Given the description of an element on the screen output the (x, y) to click on. 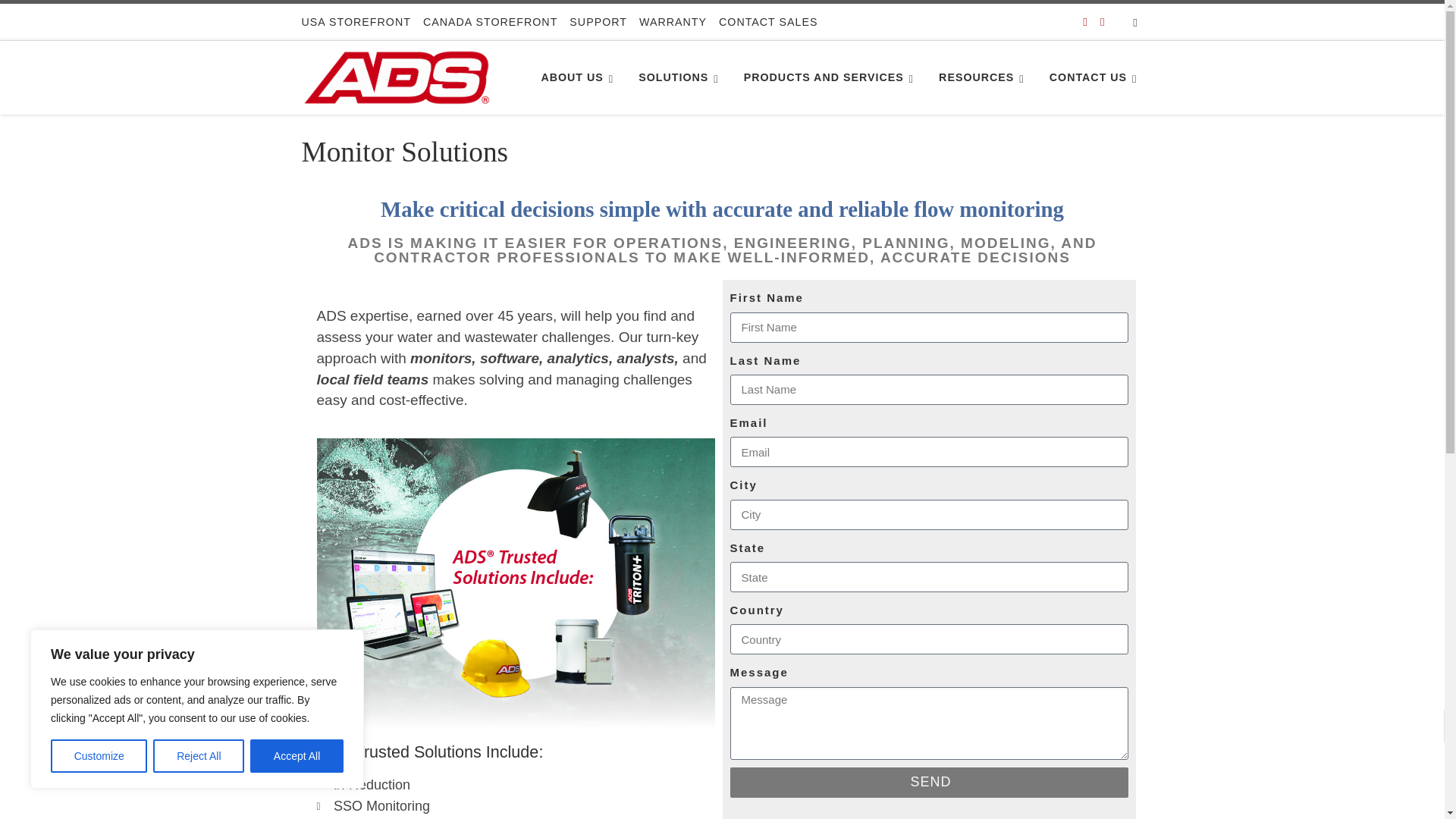
USA STOREFRONT (355, 21)
WARRANTY (673, 21)
CONTACT SALES (768, 21)
PRODUCTS AND SERVICES (831, 77)
CANADA STOREFRONT (490, 21)
Search (1135, 22)
Skip to content (60, 20)
SOLUTIONS (681, 77)
Accept All (296, 756)
Customize (98, 756)
Reject All (198, 756)
ABOUT US (579, 77)
SUPPORT (598, 21)
